Given the description of an element on the screen output the (x, y) to click on. 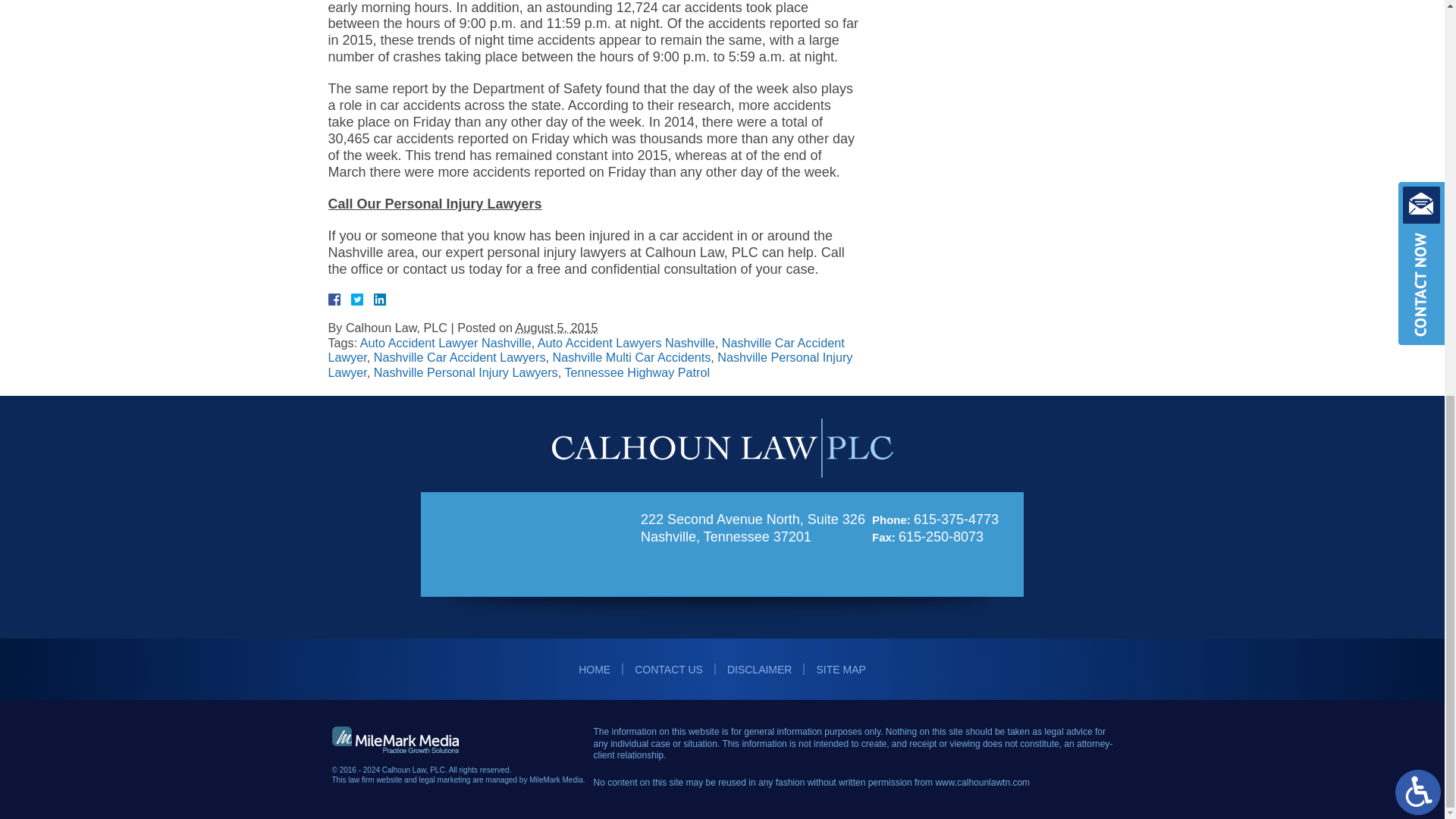
Nashville Car Accident Lawyer (585, 349)
Auto Accident Lawyer Nashville (445, 342)
Nashville Car Accident Lawyers (460, 356)
Nashville Personal Injury Lawyer (589, 364)
Nashville Multi Car Accidents (632, 356)
Auto Accident Lawyers Nashville (625, 342)
2015-08-05T08:12:20-0700 (556, 327)
